Given the description of an element on the screen output the (x, y) to click on. 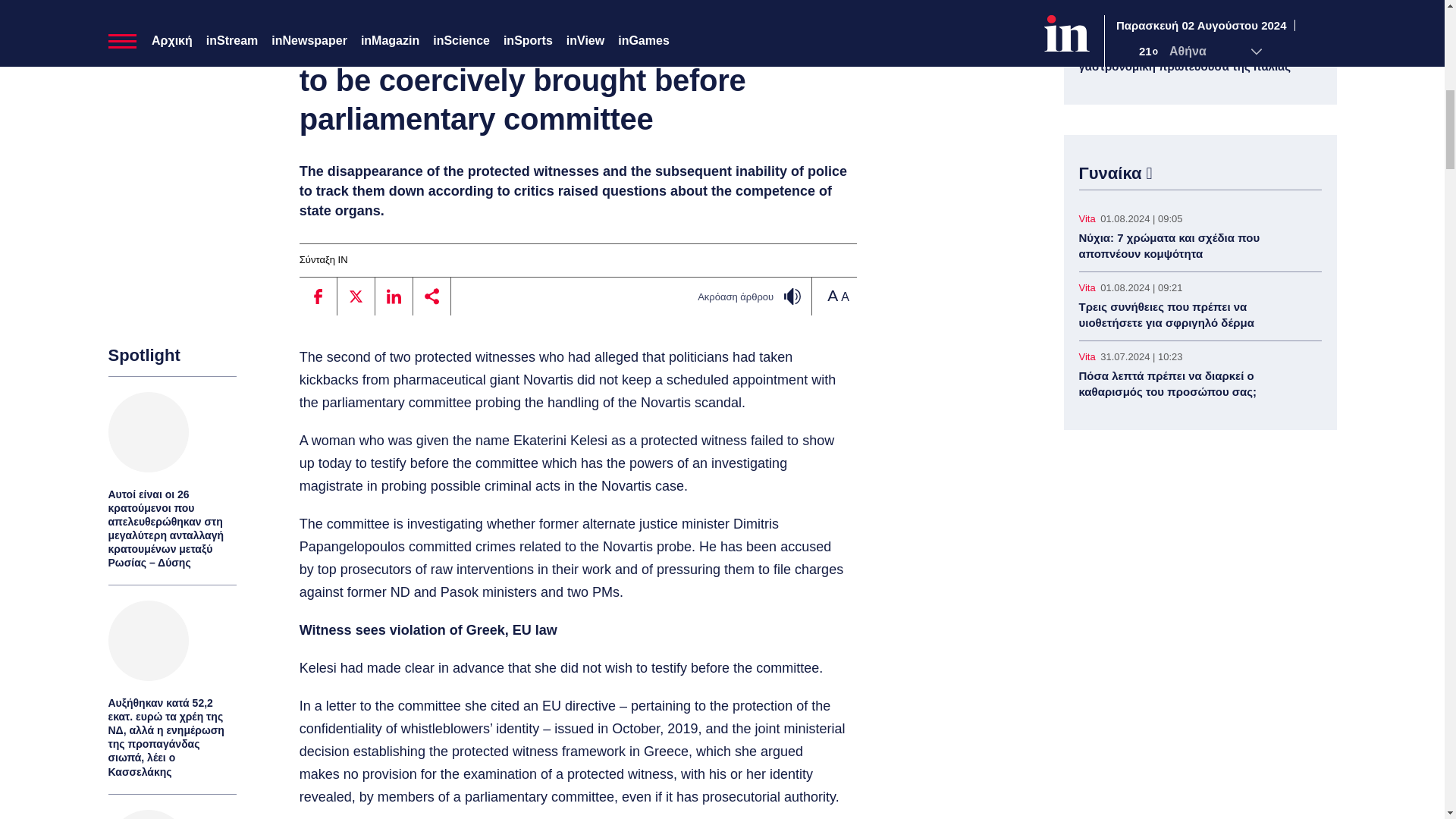
ENGLISH EDITION (345, 7)
